Given the description of an element on the screen output the (x, y) to click on. 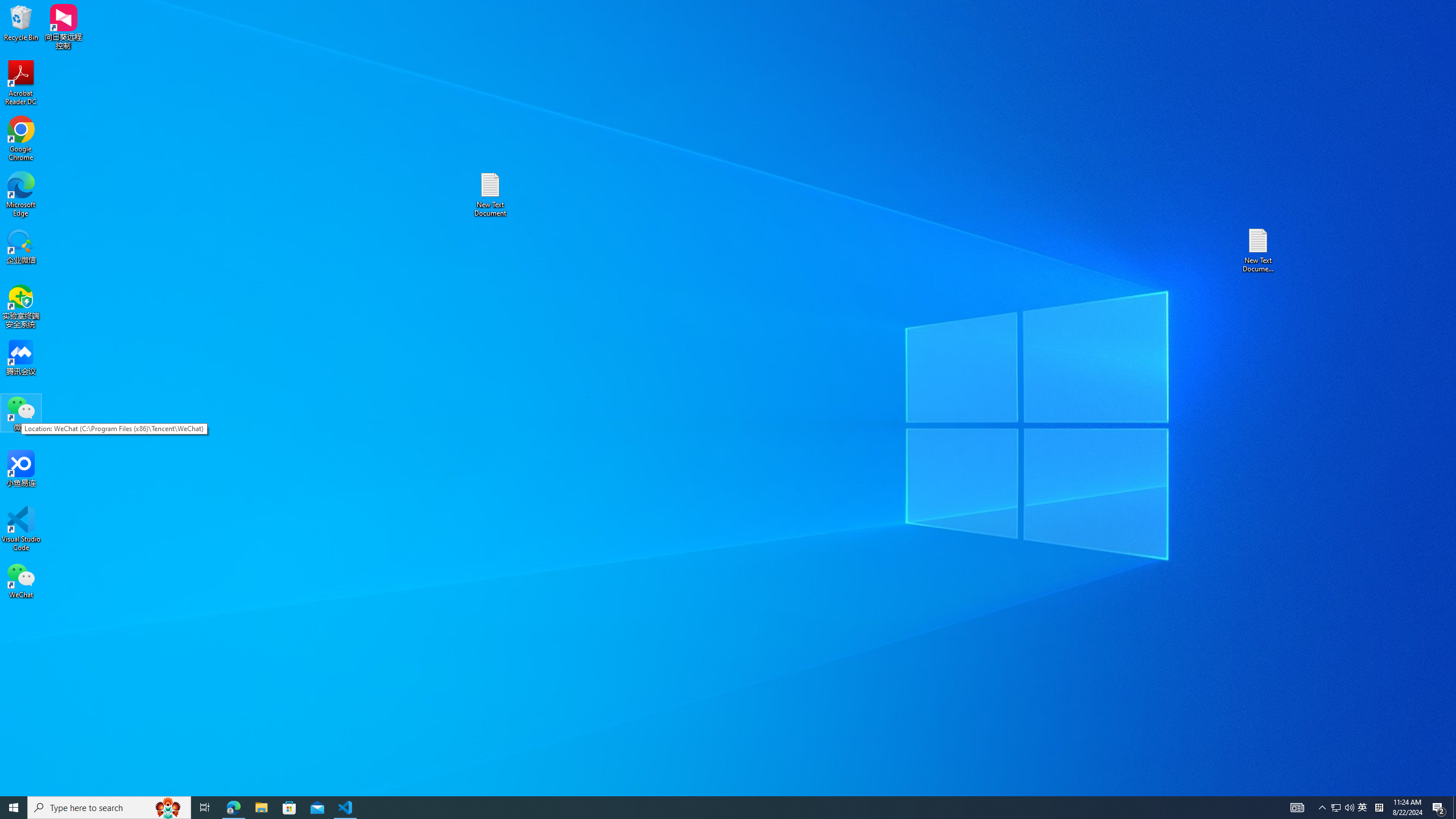
Google Chrome (1362, 807)
Recycle Bin (21, 138)
New Text Document (21, 22)
